Given the description of an element on the screen output the (x, y) to click on. 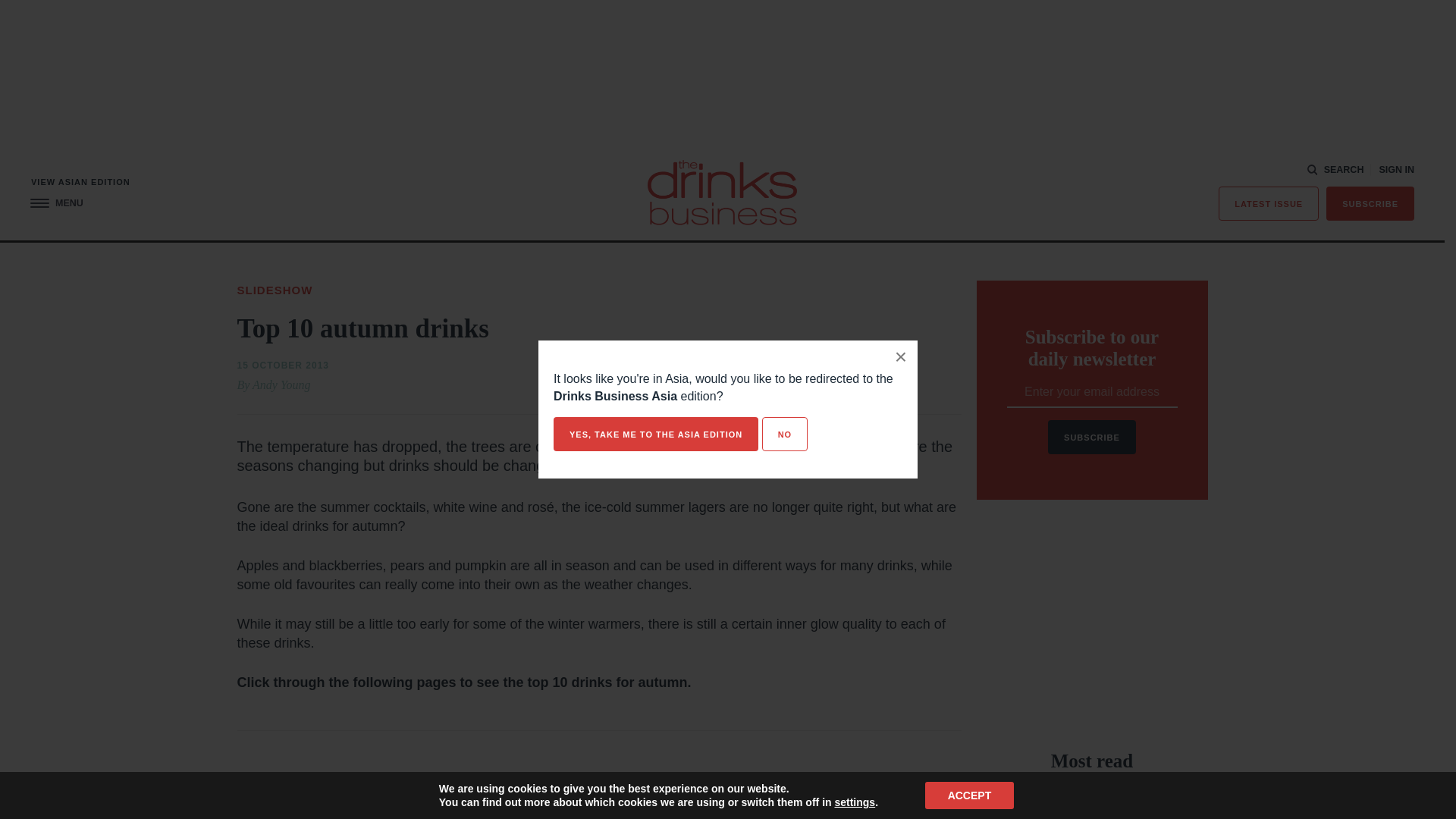
3rd party ad content (1091, 624)
YES, TAKE ME TO THE ASIA EDITION (655, 433)
SEARCH (1335, 169)
SIGN IN (1395, 170)
SUBSCRIBE (1369, 203)
LATEST ISSUE (1268, 203)
MENU (56, 203)
VIEW ASIAN EDITION (80, 182)
NO (784, 433)
